Given the description of an element on the screen output the (x, y) to click on. 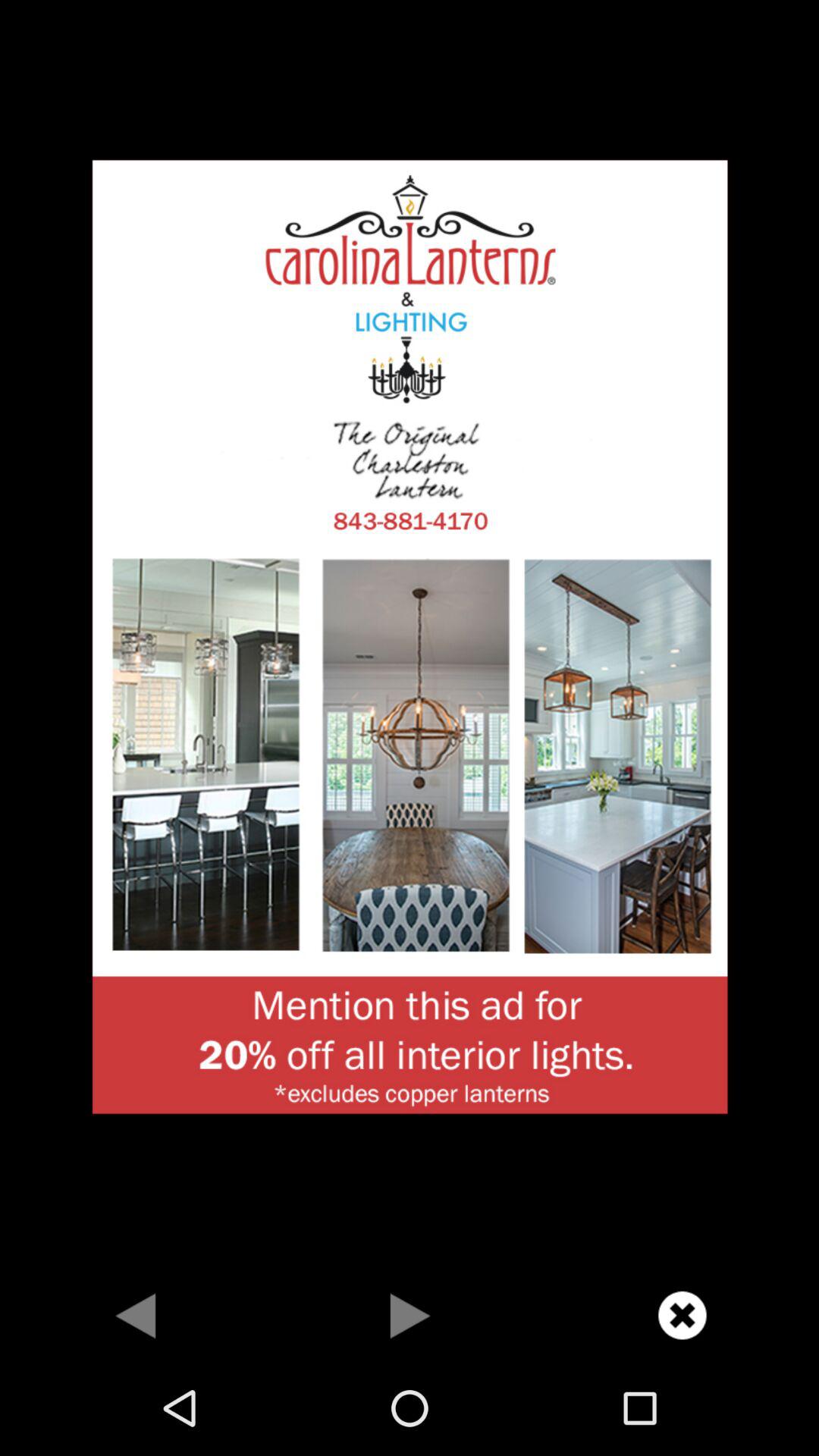
go back previous page (136, 1315)
